Given the description of an element on the screen output the (x, y) to click on. 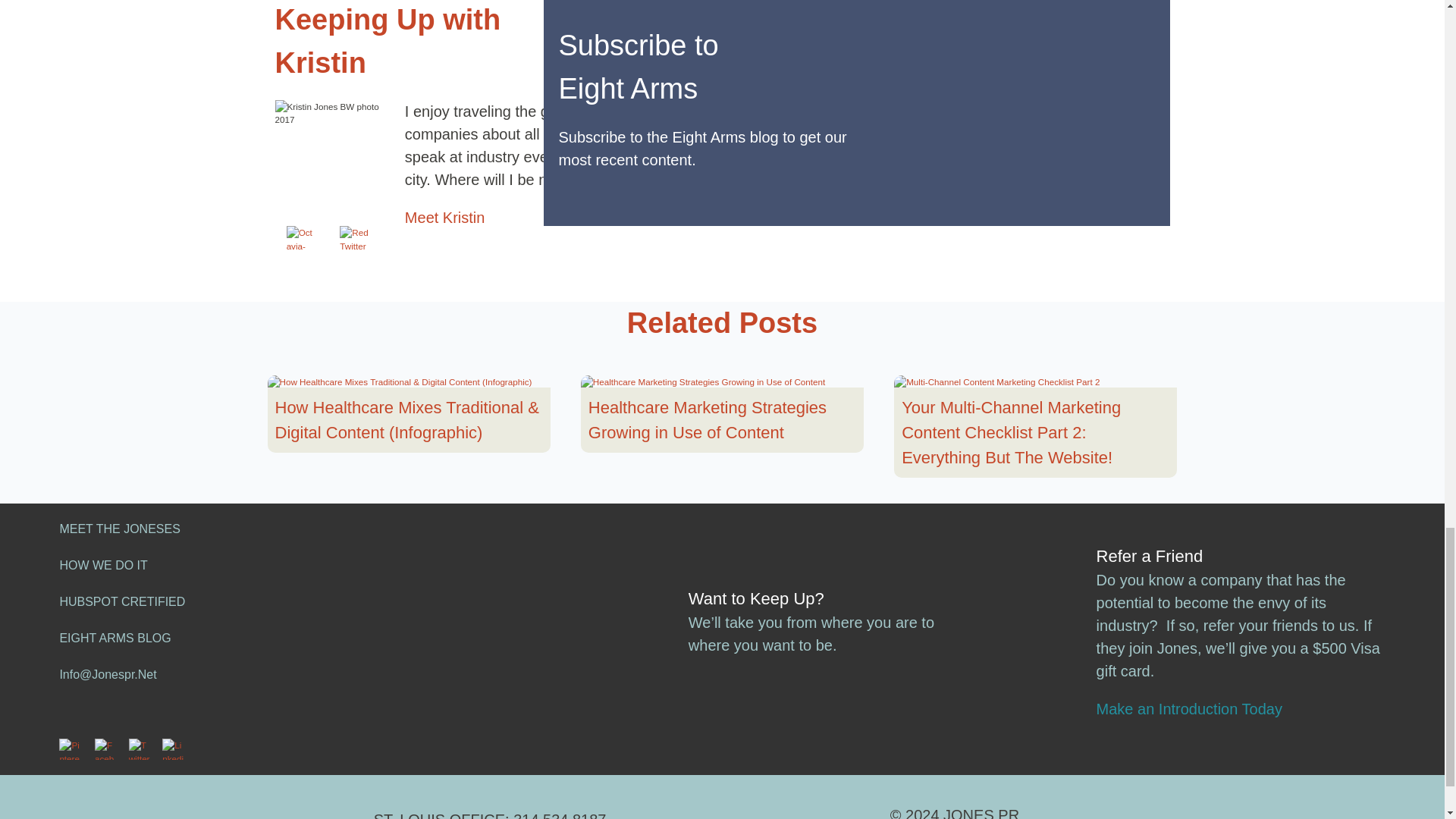
HOW WE DO IT (103, 564)
MEET THE JONESES (119, 528)
Meet Kristin (444, 217)
HUBSPOT CRETIFIED (121, 601)
EIGHT ARMS BLOG (114, 637)
Healthcare Marketing Strategies Growing in Use of Content (722, 419)
